Given the description of an element on the screen output the (x, y) to click on. 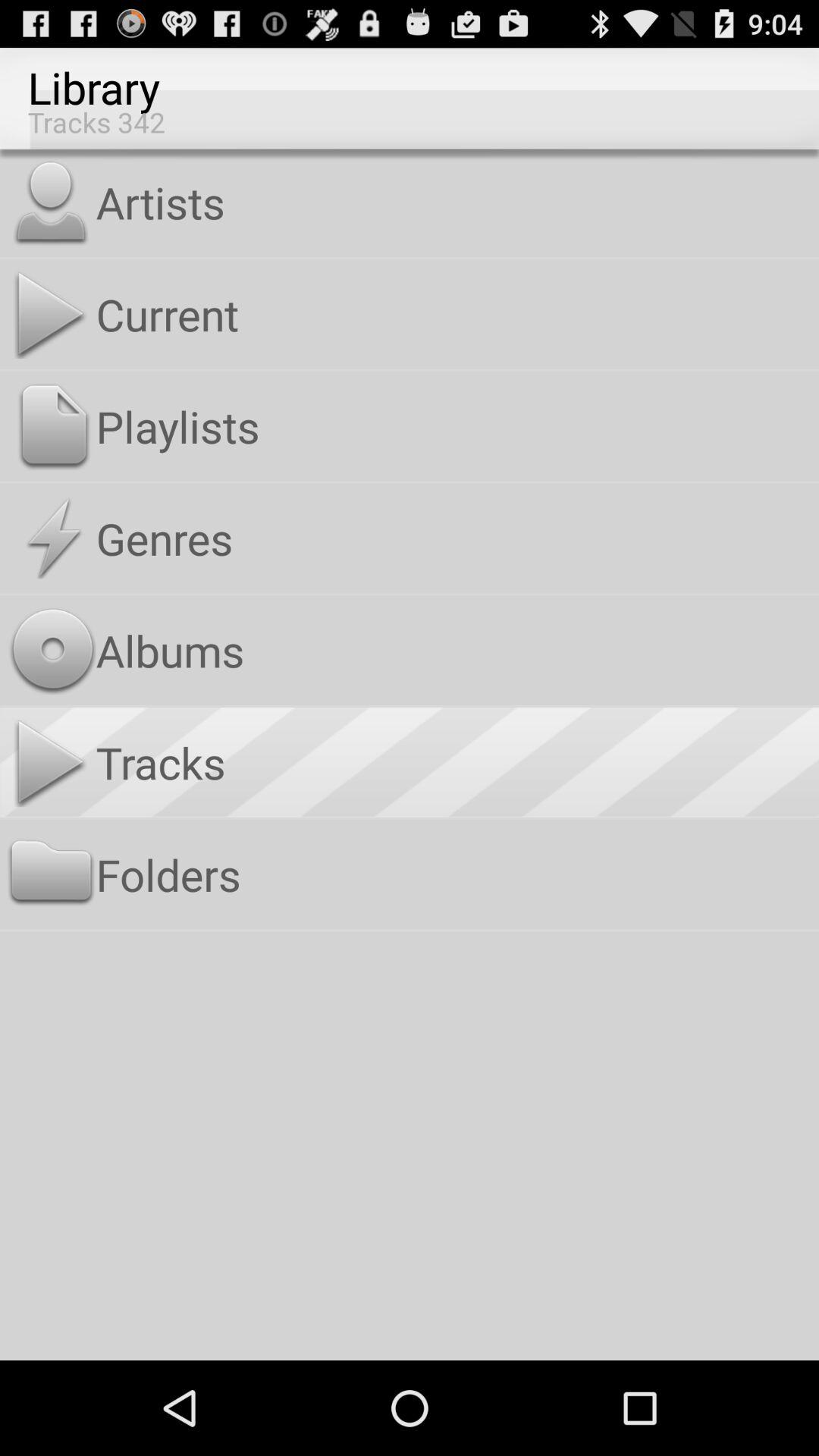
press current item (454, 313)
